Given the description of an element on the screen output the (x, y) to click on. 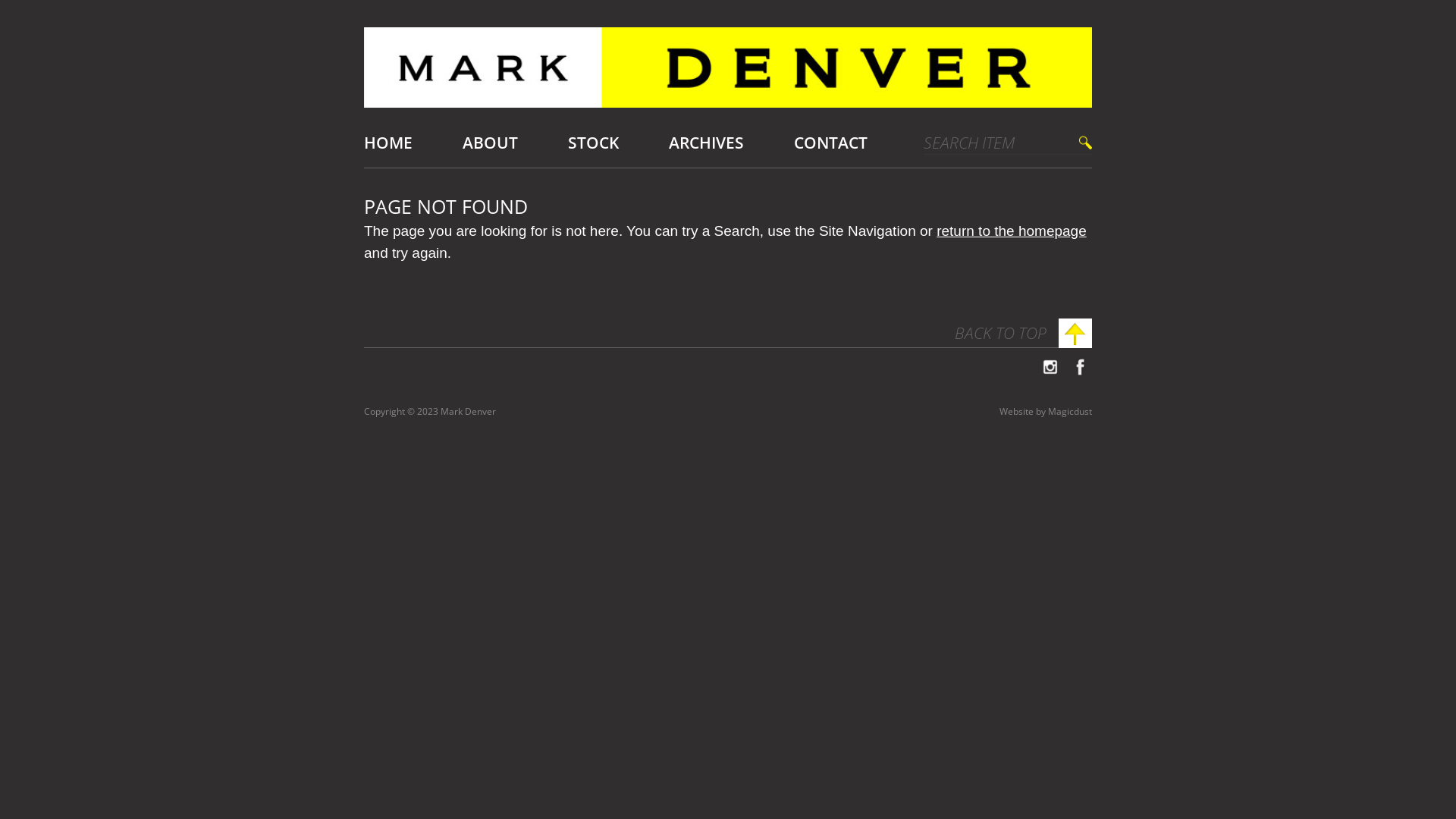
HOME Element type: text (388, 142)
BACK TO TOP Element type: text (1023, 333)
ABOUT Element type: text (489, 142)
MARK DENVER Element type: text (728, 72)
return to the homepage Element type: text (1011, 230)
Magicdust Element type: text (1070, 410)
STOCK Element type: text (592, 142)
ARCHIVES Element type: text (705, 142)
CONTACT Element type: text (830, 142)
